Given the description of an element on the screen output the (x, y) to click on. 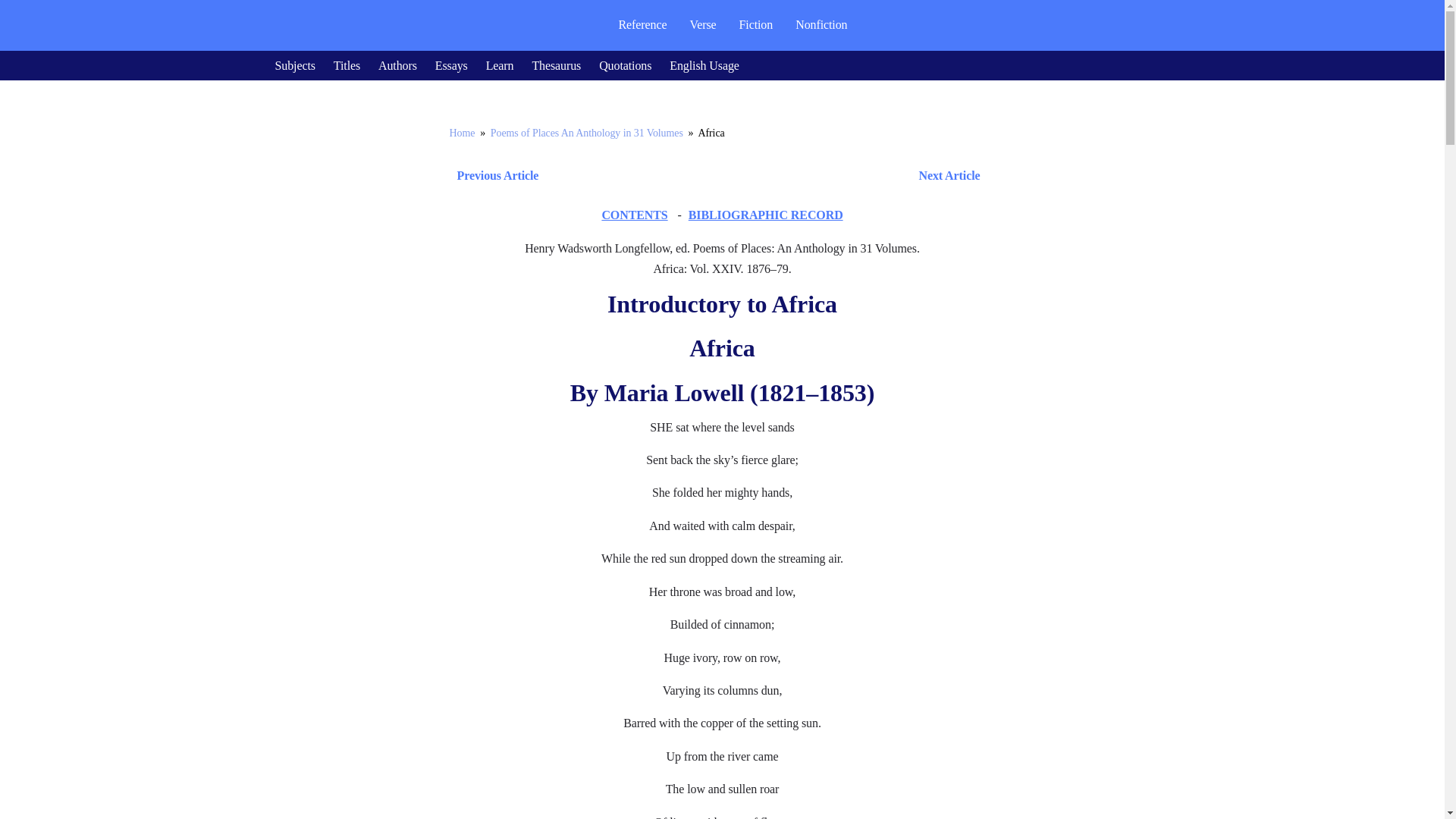
Previous Article (493, 175)
BIBLIOGRAPHIC RECORD (765, 214)
Nonfiction (821, 24)
Fiction (756, 24)
Titles (346, 65)
Essays (451, 65)
English Usage (704, 65)
Authors (397, 65)
Reference (642, 24)
Home (461, 132)
